Given the description of an element on the screen output the (x, y) to click on. 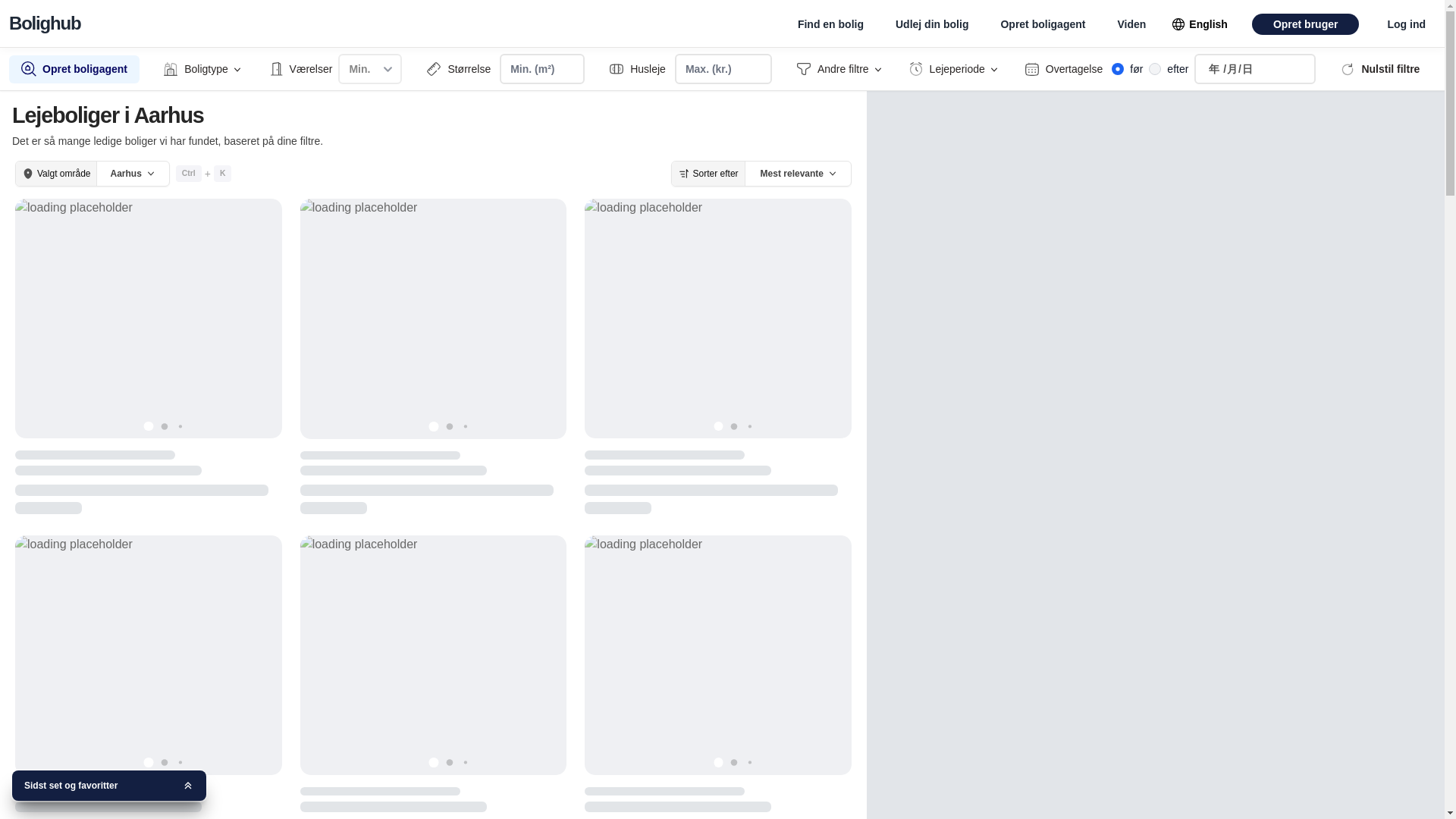
Udlej din bolig (931, 24)
Opret boligagent (1042, 24)
Log ind (1406, 24)
Lejeperiode (953, 68)
Find en bolig (830, 24)
Nulstil filtre (1379, 68)
Sidst set og favoritter (108, 785)
Viden (1130, 24)
Mest relevante (797, 173)
Aarhus (132, 173)
English (1200, 23)
Boligtype (202, 68)
before (1118, 69)
Andre filtre (840, 68)
Opret boligagent (74, 68)
